Given the description of an element on the screen output the (x, y) to click on. 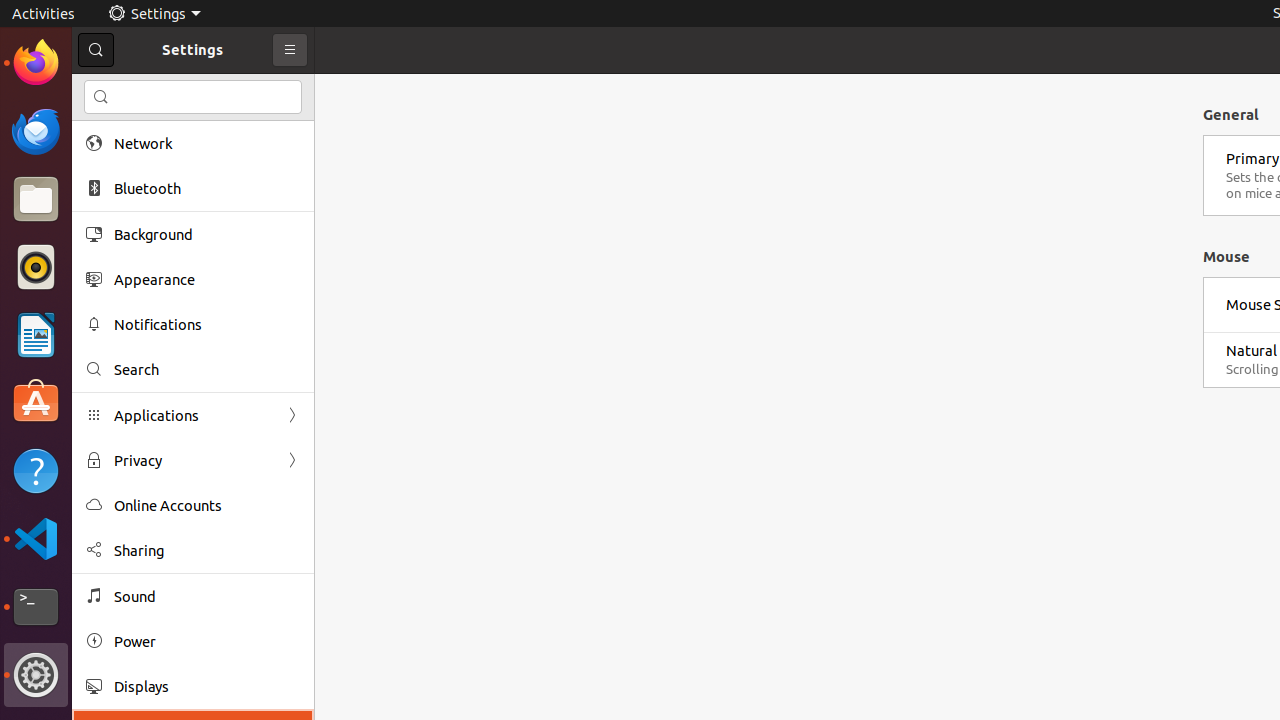
Settings Element type: push-button (36, 675)
Search Element type: text (193, 97)
Terminal Element type: push-button (36, 607)
Background Element type: label (207, 234)
